Given the description of an element on the screen output the (x, y) to click on. 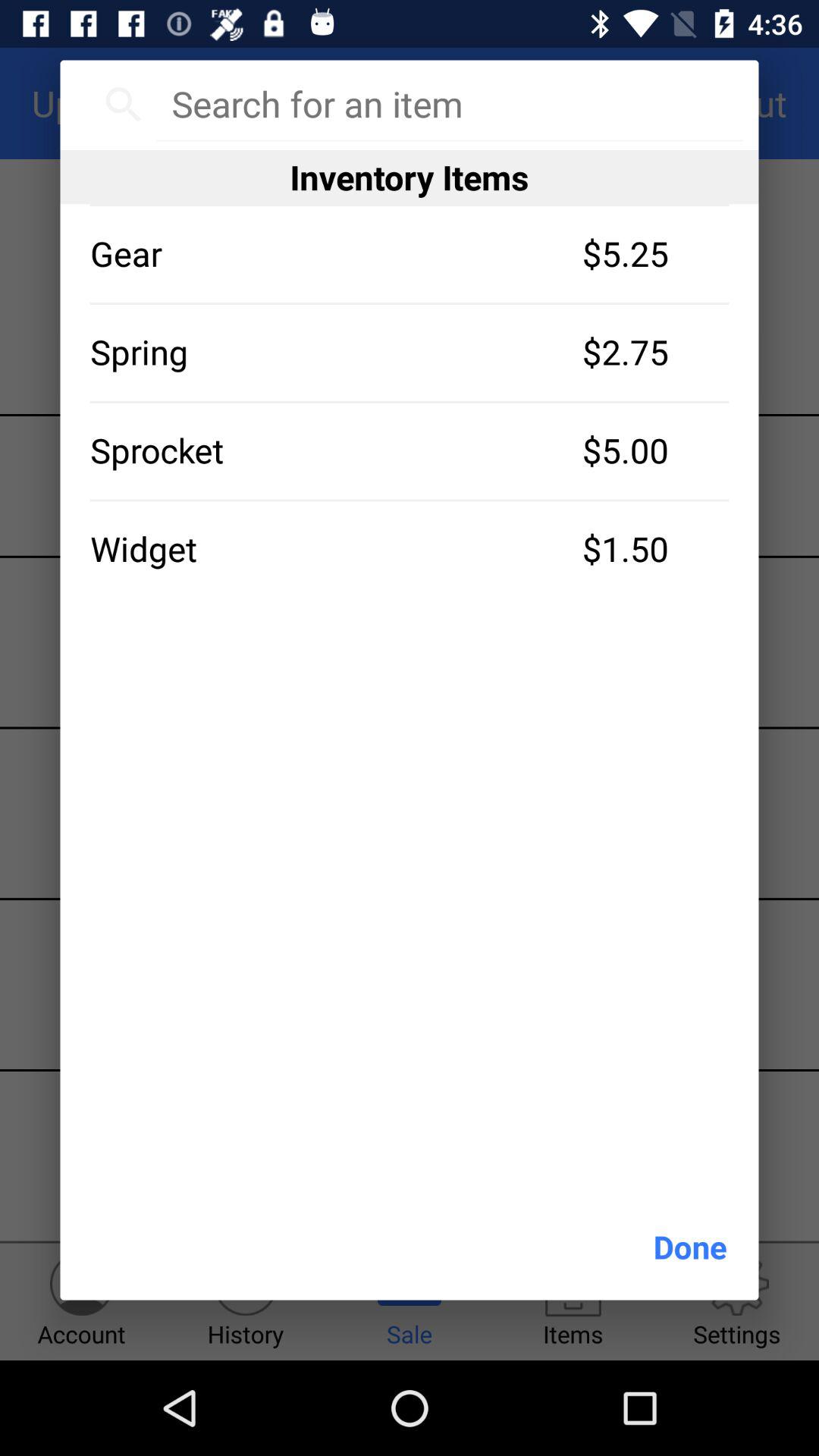
tap done at the bottom right corner (689, 1246)
